Given the description of an element on the screen output the (x, y) to click on. 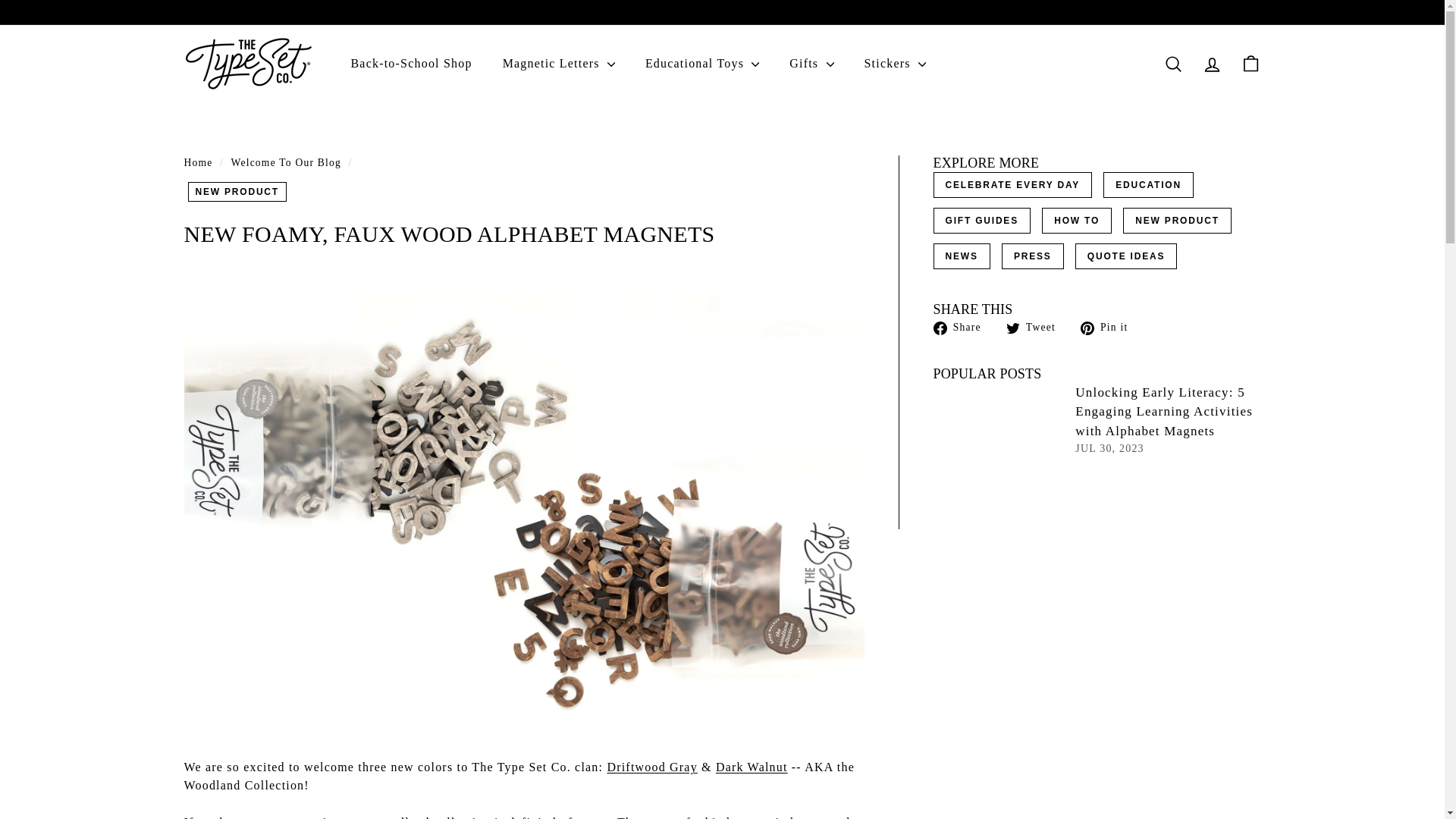
Back to the frontpage (197, 162)
Gray Faux Wood Alphabet Magnets (652, 766)
twitter (1013, 327)
Share on Facebook (962, 326)
Pin on Pinterest (1110, 326)
Walnut Faux Wood Magnetic Letters (751, 766)
Back-to-School Shop (410, 63)
Tweet on Twitter (1036, 326)
